Given the description of an element on the screen output the (x, y) to click on. 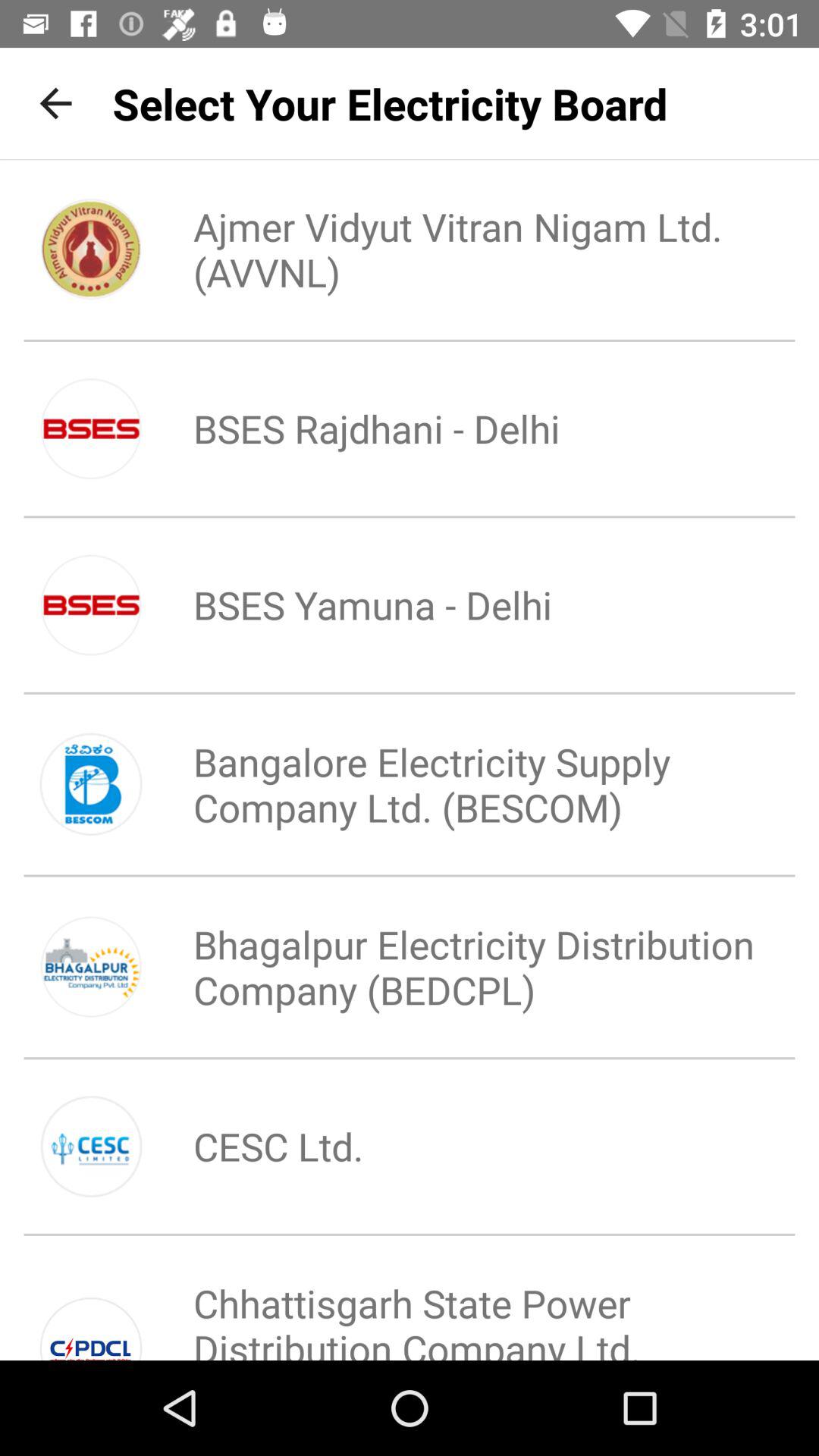
scroll to bhagalpur electricity distribution item (460, 966)
